Given the description of an element on the screen output the (x, y) to click on. 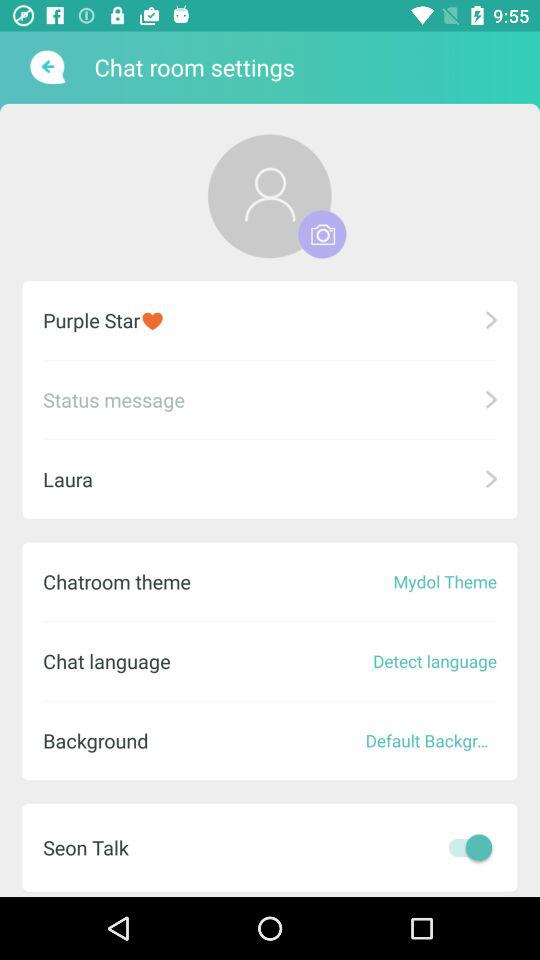
toggle button off/on (465, 847)
